Given the description of an element on the screen output the (x, y) to click on. 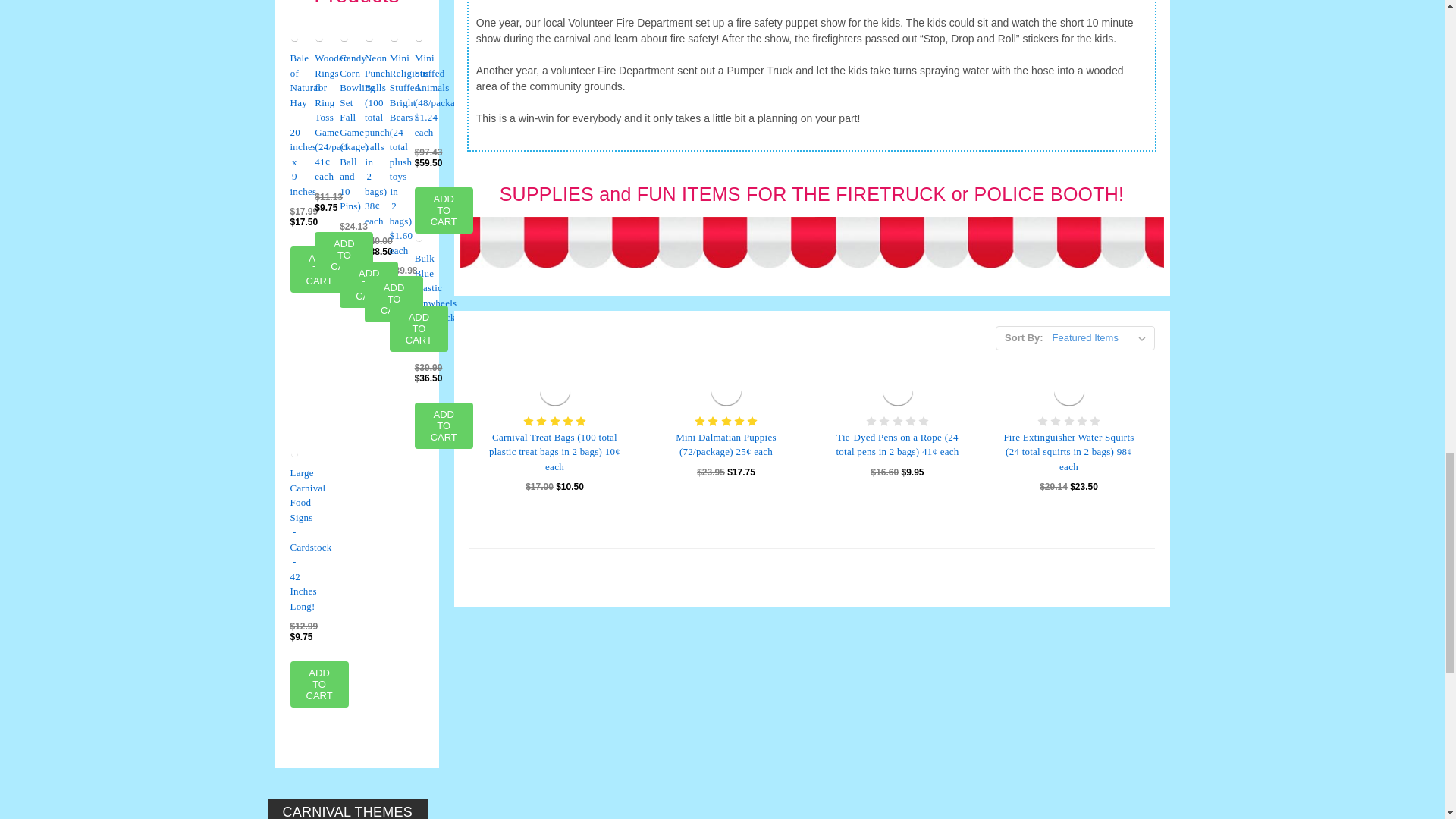
Fall Festival Game - Candy Corn Bowling (344, 38)
Neon Punch balls - Wholesale Carnival Prize (369, 38)
Natural Bale of Hay (293, 38)
Christian Stuffed Animal Bear Small Toy (394, 38)
Mini Stuffed Animals - Carnival Toys - Wholesale  (418, 38)
Bulk Blue Plastic Pinwheels (418, 237)
Wood Rings for Ring Toss Games (318, 38)
